Given the description of an element on the screen output the (x, y) to click on. 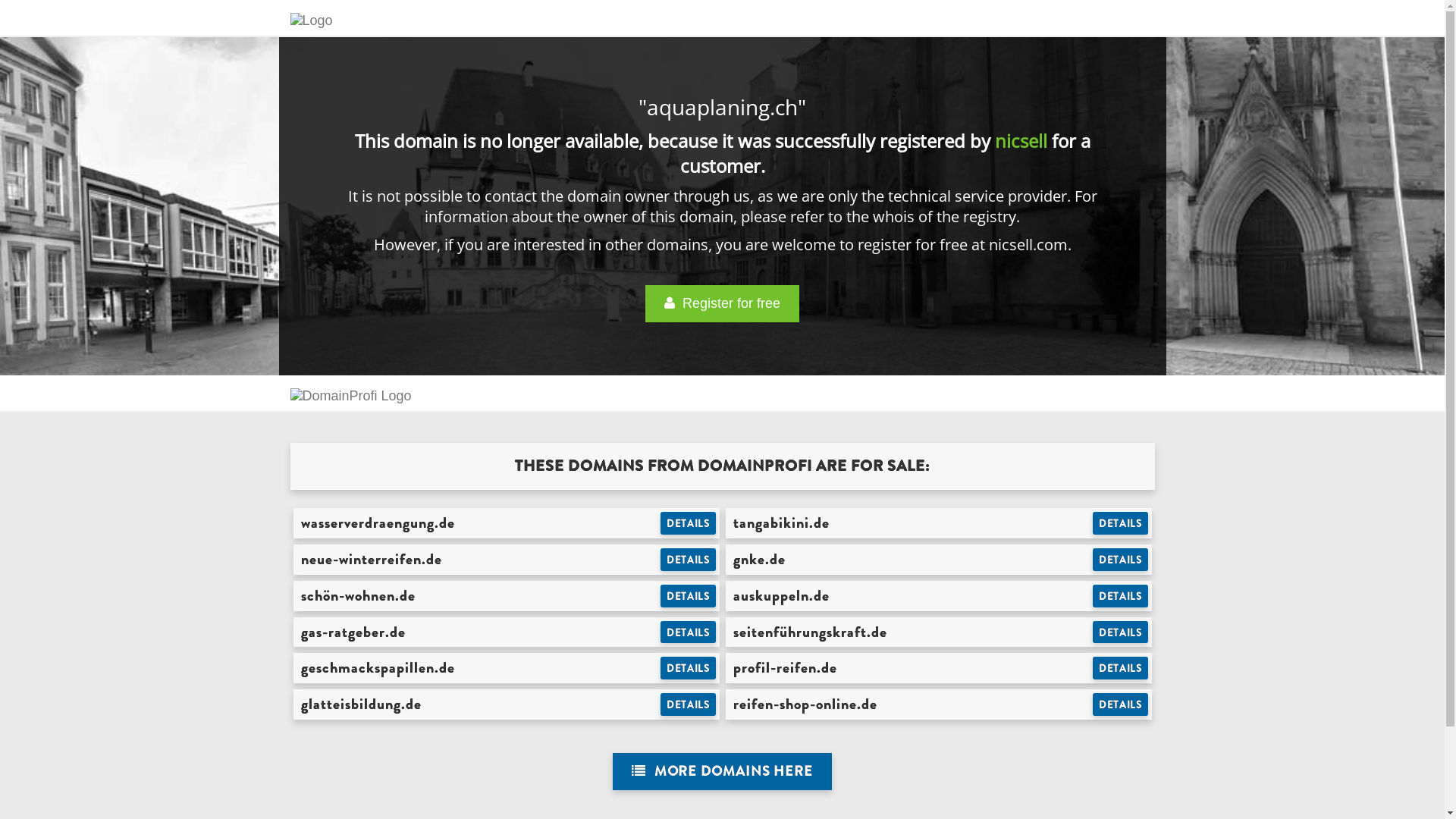
DETAILS Element type: text (687, 595)
nicsell Element type: text (1020, 140)
  MORE DOMAINS HERE Element type: text (721, 771)
DETAILS Element type: text (687, 704)
DETAILS Element type: text (1120, 595)
DETAILS Element type: text (1120, 522)
DETAILS Element type: text (1120, 667)
DETAILS Element type: text (1120, 704)
DETAILS Element type: text (687, 632)
DETAILS Element type: text (687, 522)
DETAILS Element type: text (1120, 632)
DETAILS Element type: text (1120, 559)
  Register for free Element type: text (722, 303)
DETAILS Element type: text (687, 667)
DETAILS Element type: text (687, 559)
